Given the description of an element on the screen output the (x, y) to click on. 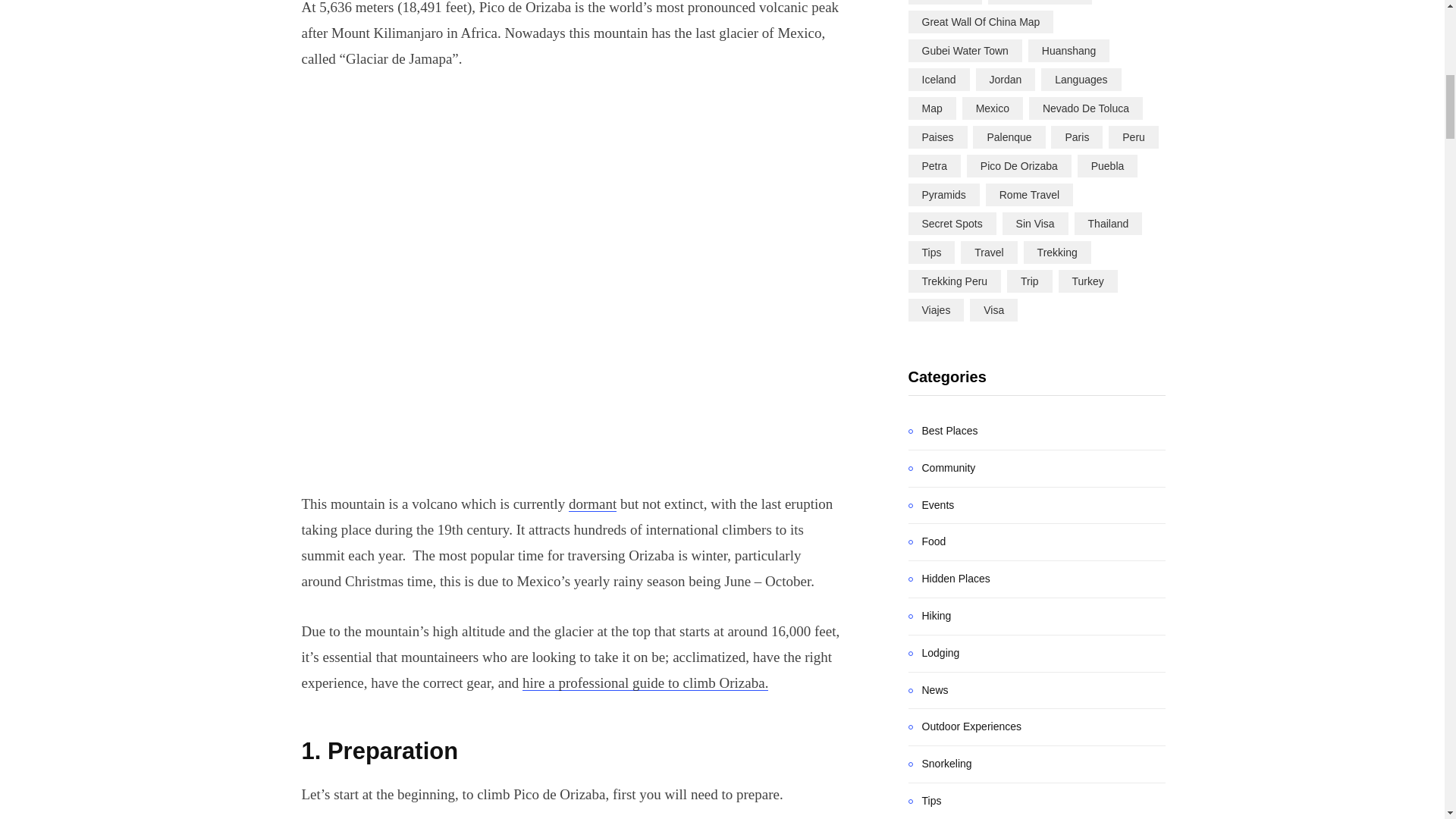
hire a professional guide to climb Orizaba. (645, 682)
dormant (592, 503)
Dormant volcano (592, 503)
